Given the description of an element on the screen output the (x, y) to click on. 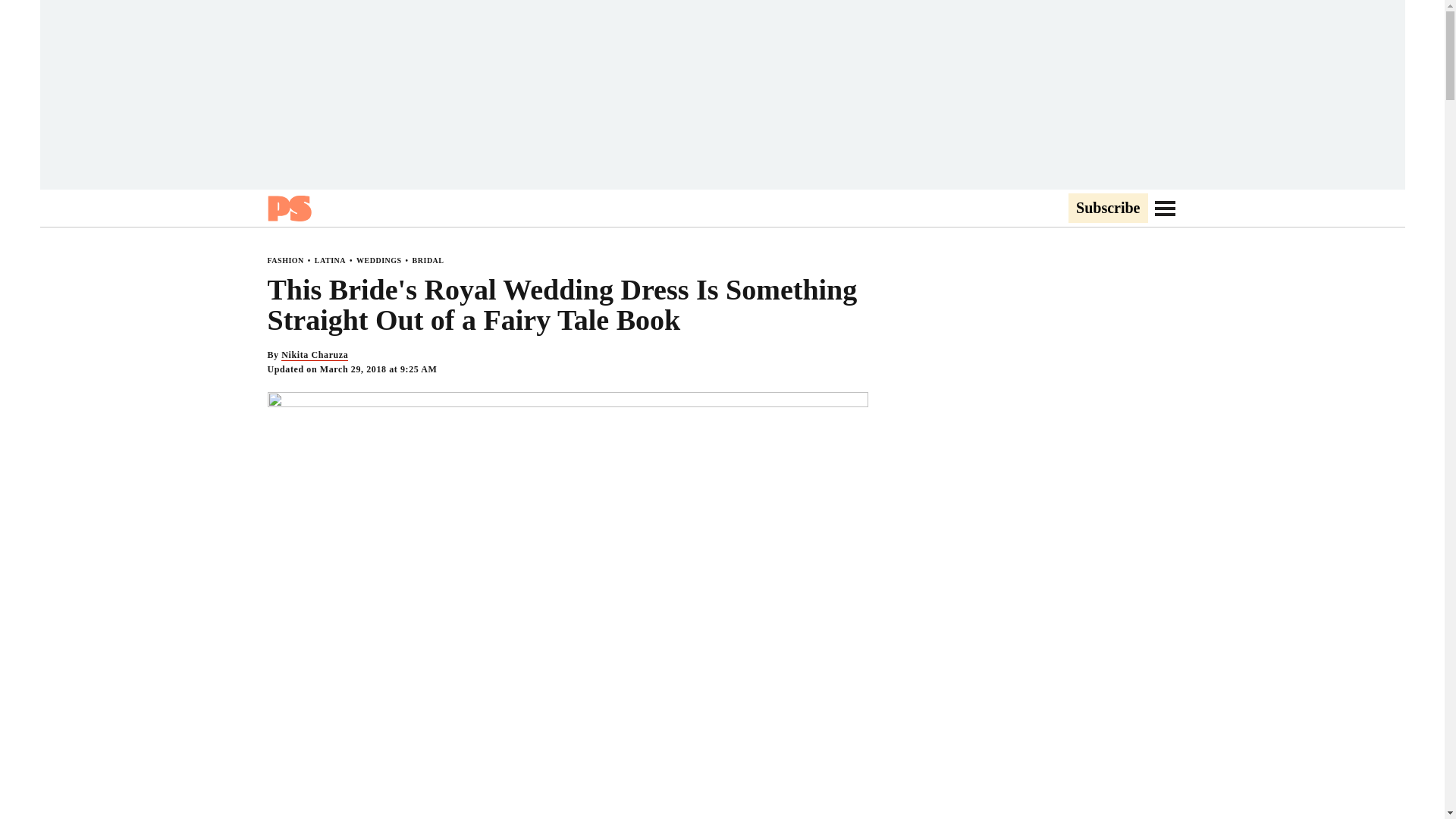
BRIDAL (428, 260)
Popsugar (288, 208)
FASHION (284, 260)
Go to Navigation (1164, 207)
Go to Navigation (1164, 207)
LATINA (330, 260)
Subscribe (1107, 208)
Nikita Charuza (314, 355)
WEDDINGS (378, 260)
